Given the description of an element on the screen output the (x, y) to click on. 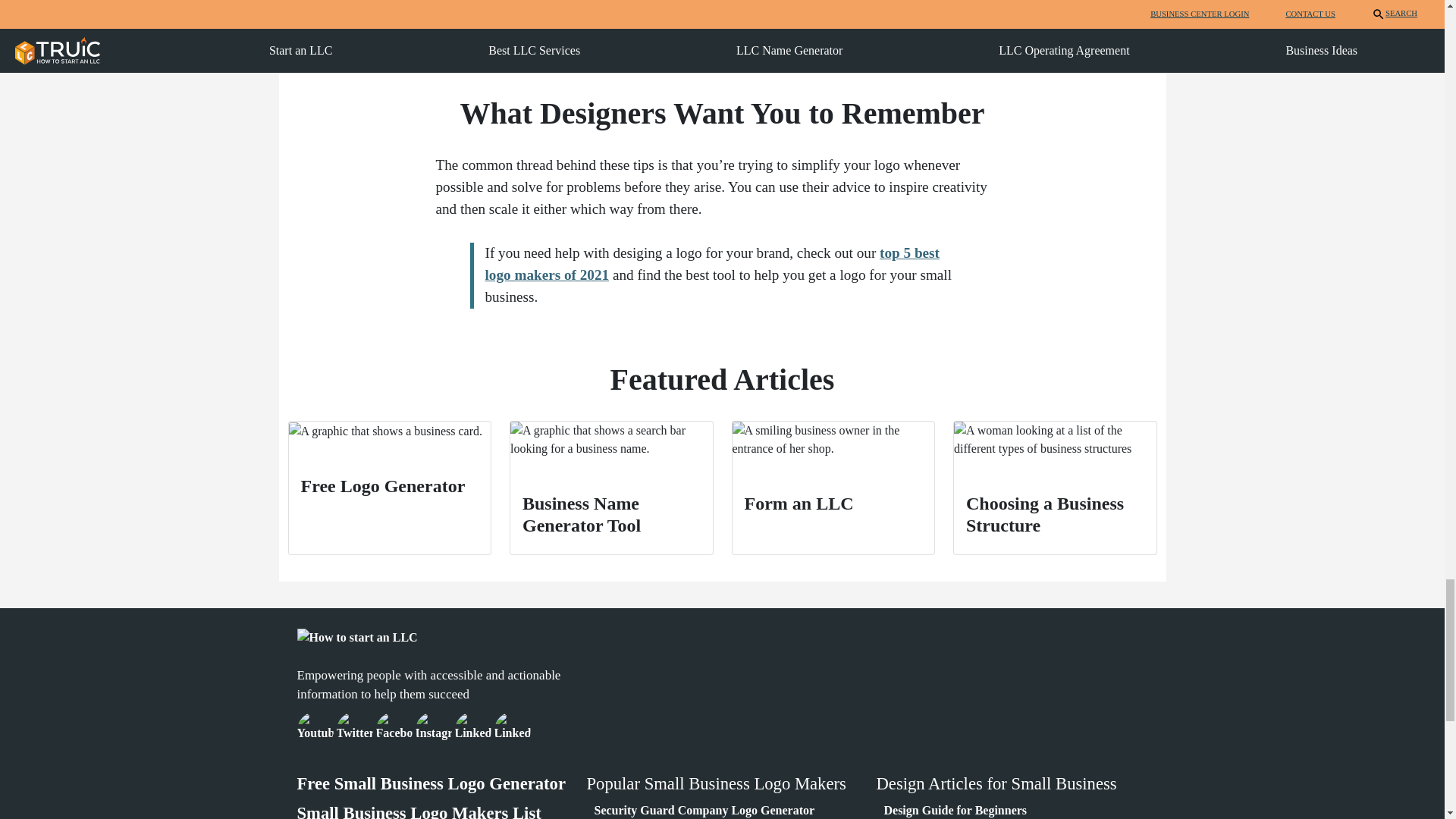
top 5 best logo makers 2021 (711, 263)
Follow us on Instagram (432, 727)
Subscribe to our Youtube Channel (315, 727)
Check us out on LinkedIn (513, 727)
Small Business Logo Makers List (419, 811)
TRUiC.com (354, 727)
Small Business Logo Makers List (419, 811)
How to start an LLC (357, 637)
Check us out on LinkedIn (473, 727)
Free Small Business Logo Generator (431, 783)
